Given the description of an element on the screen output the (x, y) to click on. 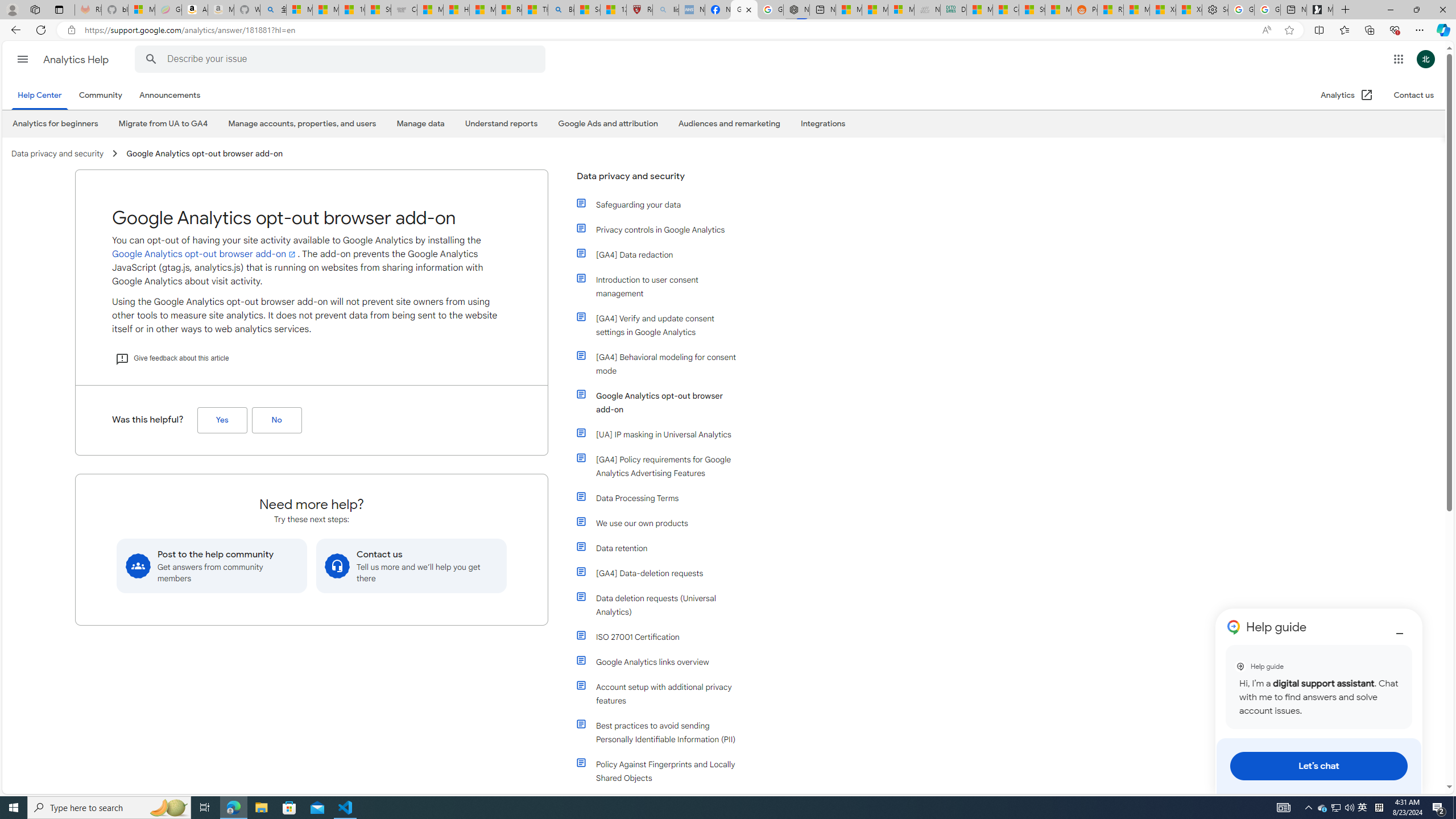
Privacy controls in Google Analytics (658, 229)
Data controls in Universal Analytics (658, 802)
Account setup with additional privacy features (658, 693)
DITOGAMES AG Imprint (953, 9)
[GA4] Data redaction (658, 254)
[GA4] Data-deletion requests (658, 573)
Manage accounts, properties, and users (302, 123)
ISO 27001 Certification (658, 636)
Give feedback about this article (172, 358)
